Given the description of an element on the screen output the (x, y) to click on. 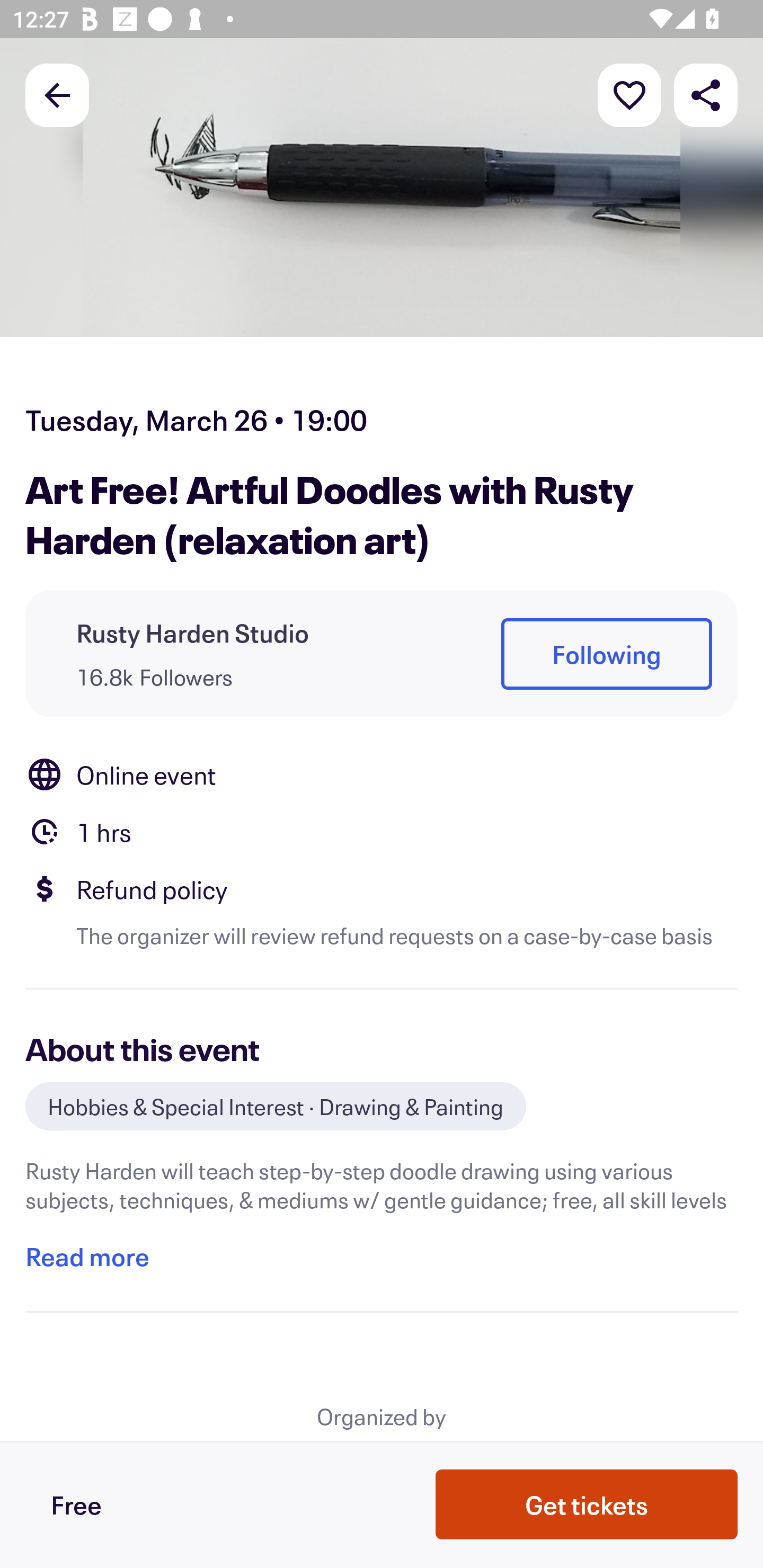
Back (57, 94)
More (629, 94)
Share (705, 94)
Rusty Harden Studio (192, 632)
Following (606, 654)
Location Online event (381, 774)
Read more (87, 1256)
Get tickets (586, 1504)
